Given the description of an element on the screen output the (x, y) to click on. 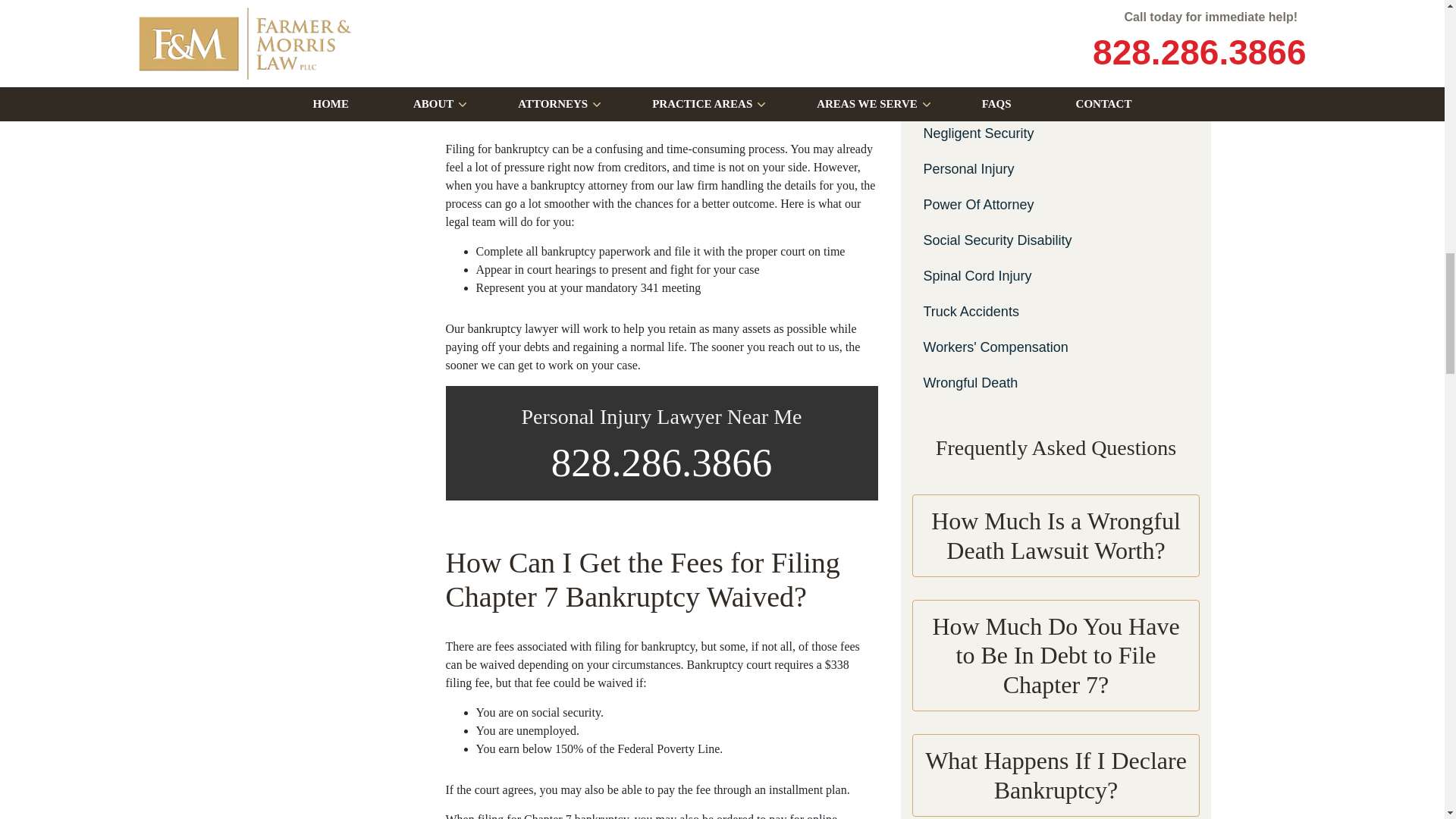
How Much Is a Wrongful Death Lawsuit Worth? (1055, 535)
What Happens If I Declare Bankruptcy? (1055, 774)
How Much Do You Have to Be In Debt to File Chapter 7? (1055, 655)
